Given the description of an element on the screen output the (x, y) to click on. 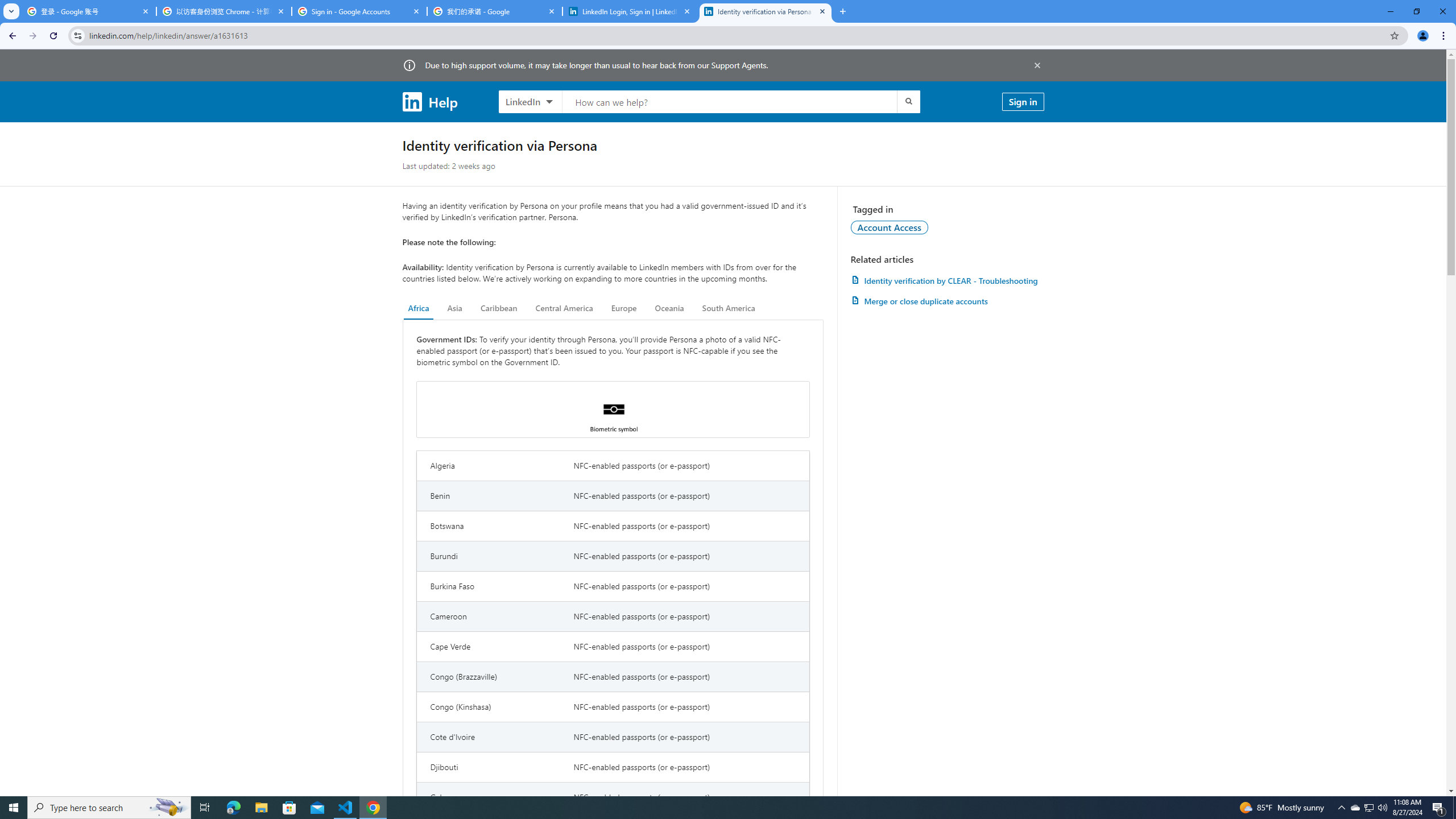
Account Access (889, 227)
Asia (454, 308)
AutomationID: topic-link-a151002 (889, 227)
Africa (418, 308)
Europe (623, 308)
